Given the description of an element on the screen output the (x, y) to click on. 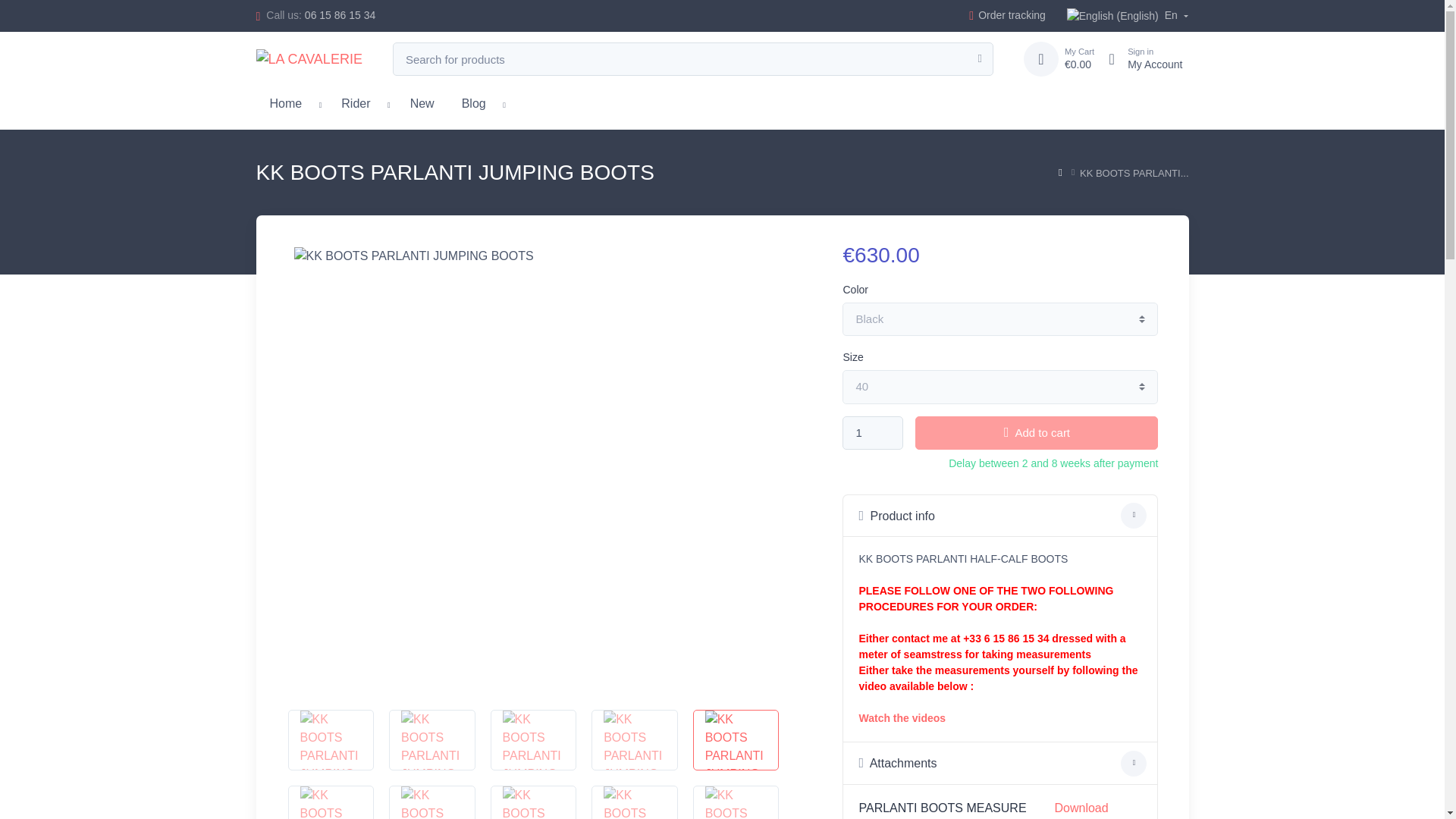
Blog (473, 102)
Order tracking (1138, 58)
New (1007, 15)
1 (422, 102)
Rider (872, 433)
Home (355, 102)
06 15 86 15 34 (285, 102)
En (339, 15)
